Given the description of an element on the screen output the (x, y) to click on. 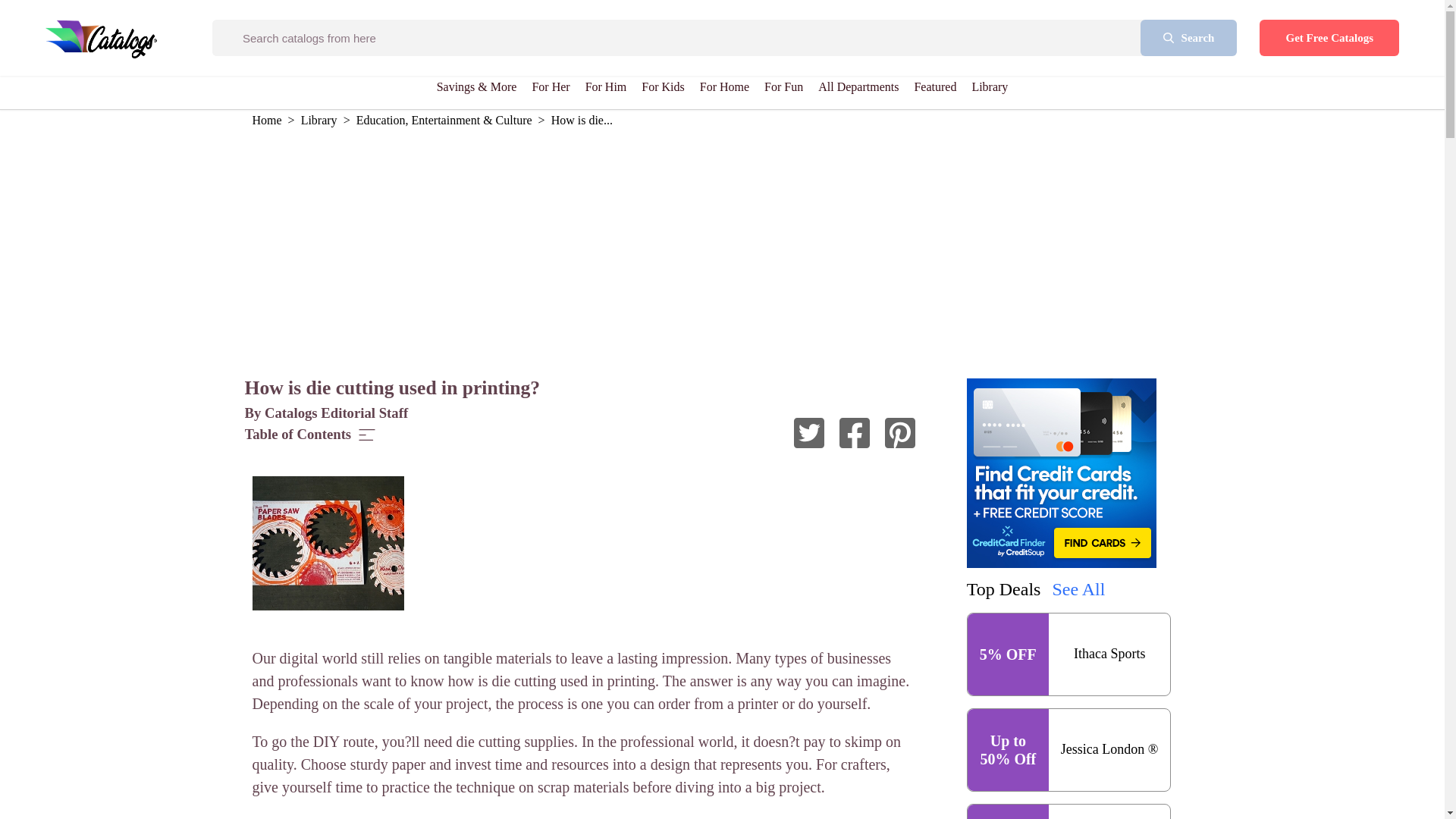
How is die cutting used in printing? - (900, 435)
Get Free Catalogs (1329, 37)
Search (1188, 37)
